Given the description of an element on the screen output the (x, y) to click on. 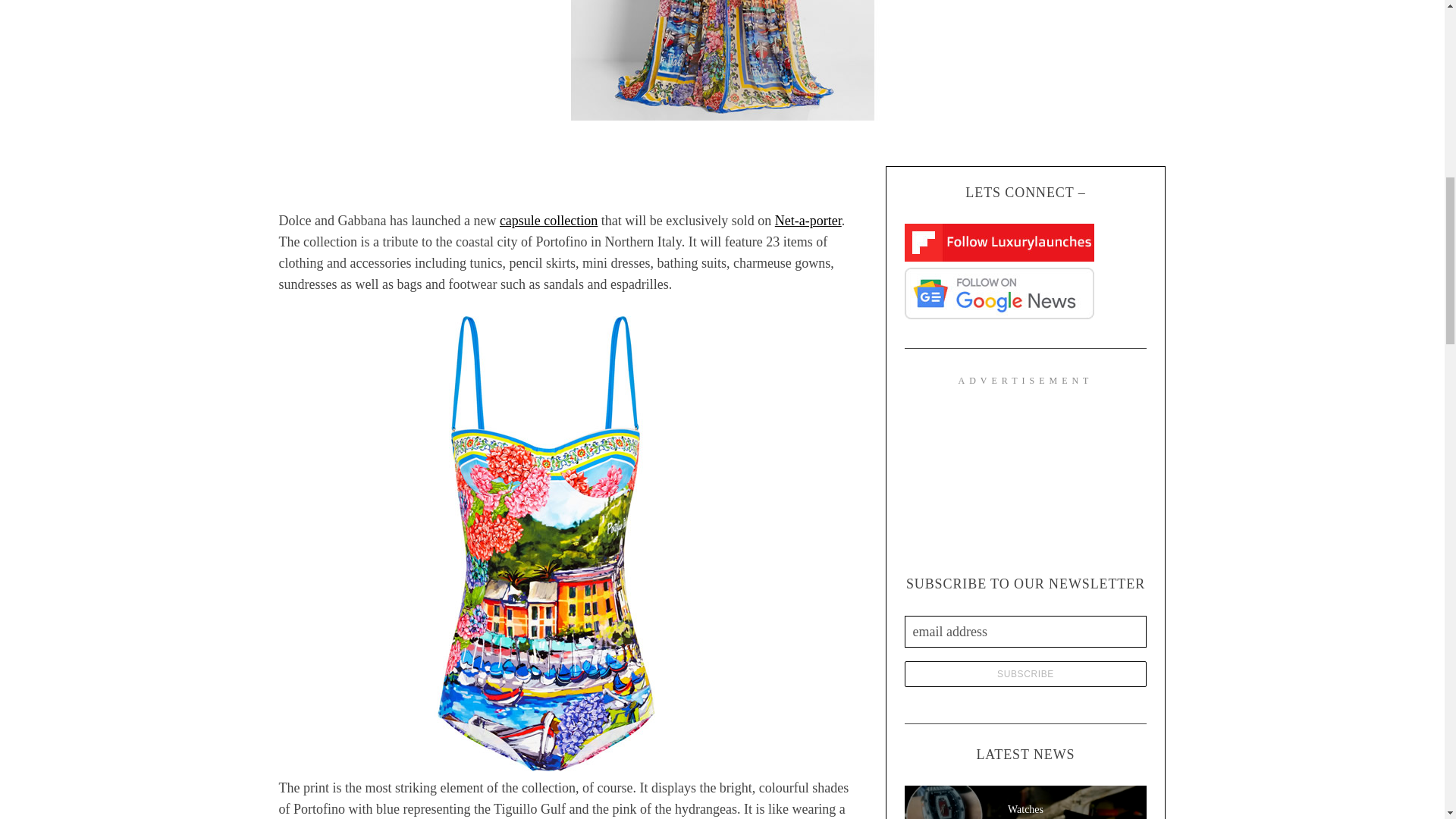
capsule collection (547, 219)
Net-a-porter (807, 219)
Subscribe (1025, 673)
